Given the description of an element on the screen output the (x, y) to click on. 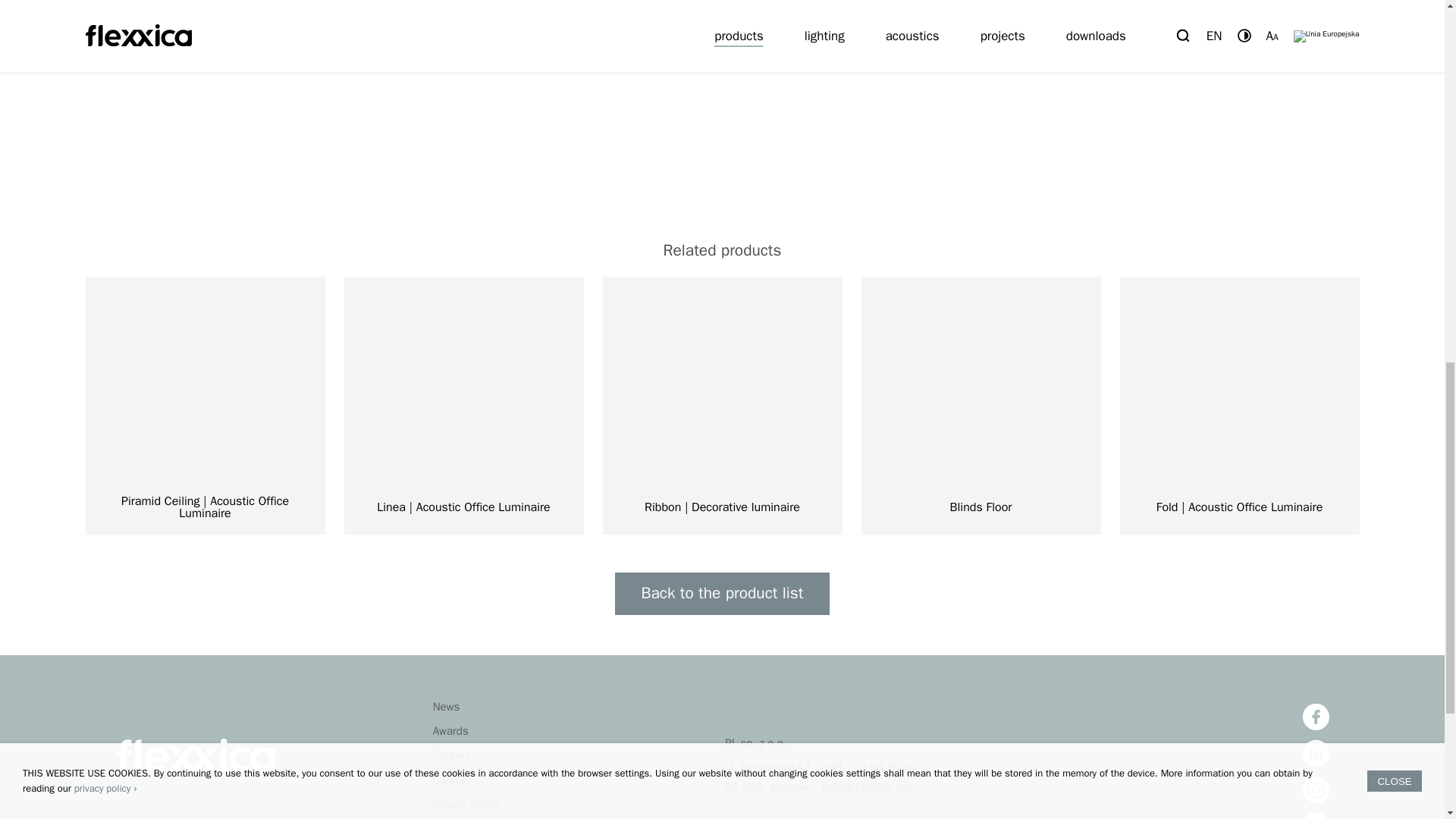
Linkedin (1316, 753)
News (446, 706)
Back to the product list (721, 593)
Pinterest (1316, 816)
Blinds Floor (980, 405)
Awards (450, 730)
Instagram (1316, 789)
Facebook (1316, 716)
